Given the description of an element on the screen output the (x, y) to click on. 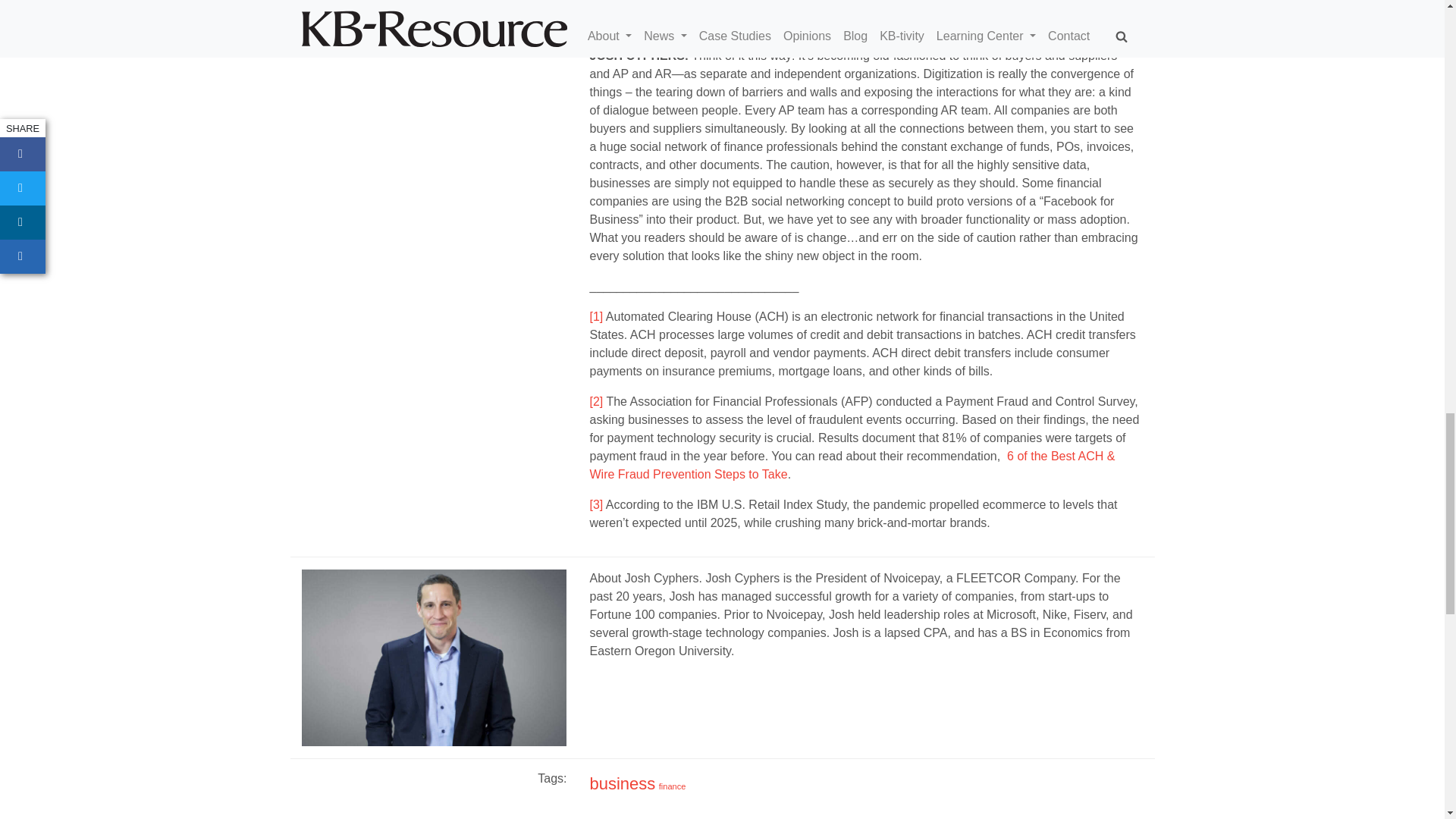
finance (672, 786)
business (622, 783)
